Given the description of an element on the screen output the (x, y) to click on. 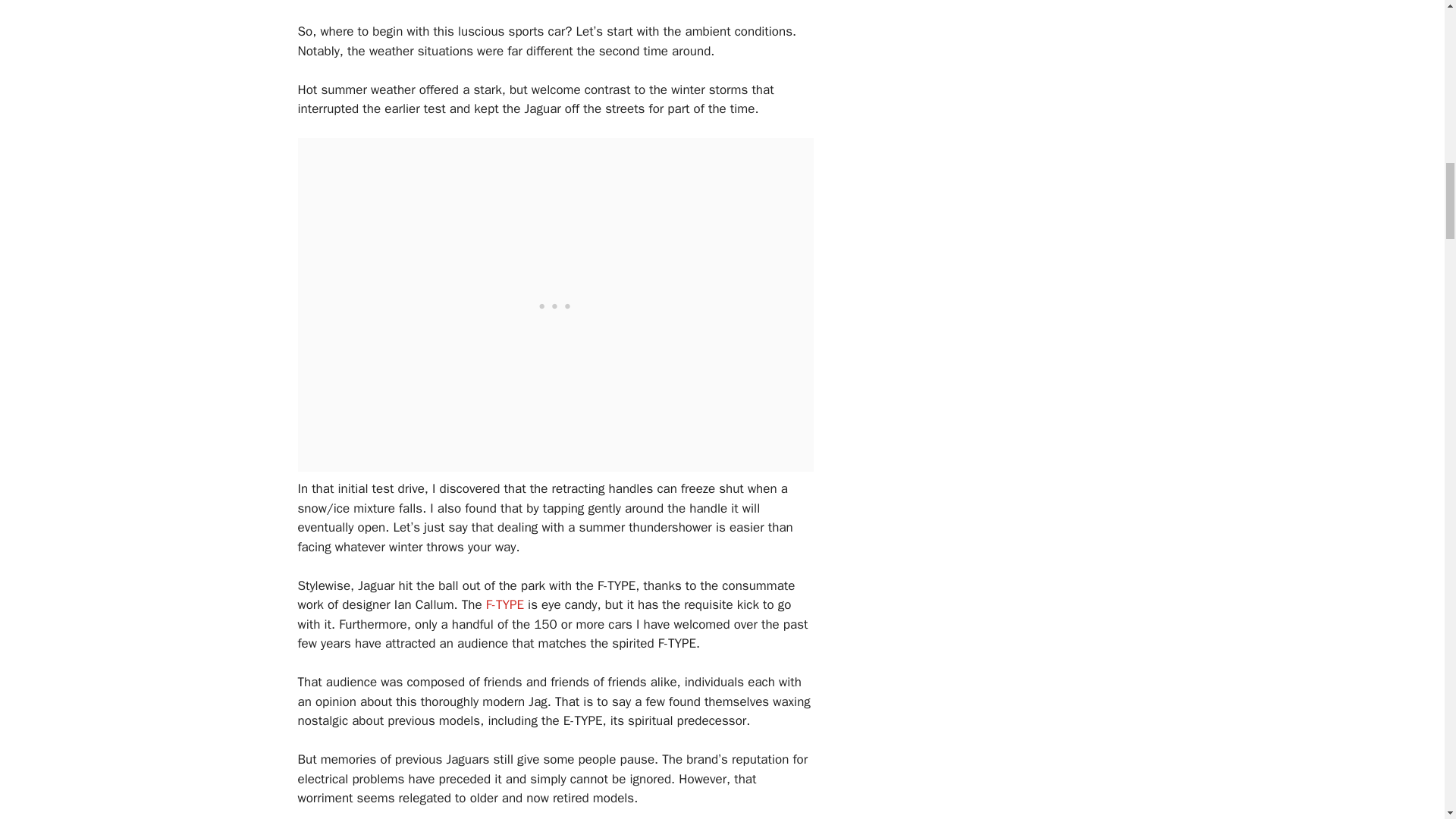
F-TYPE (505, 604)
